Given the description of an element on the screen output the (x, y) to click on. 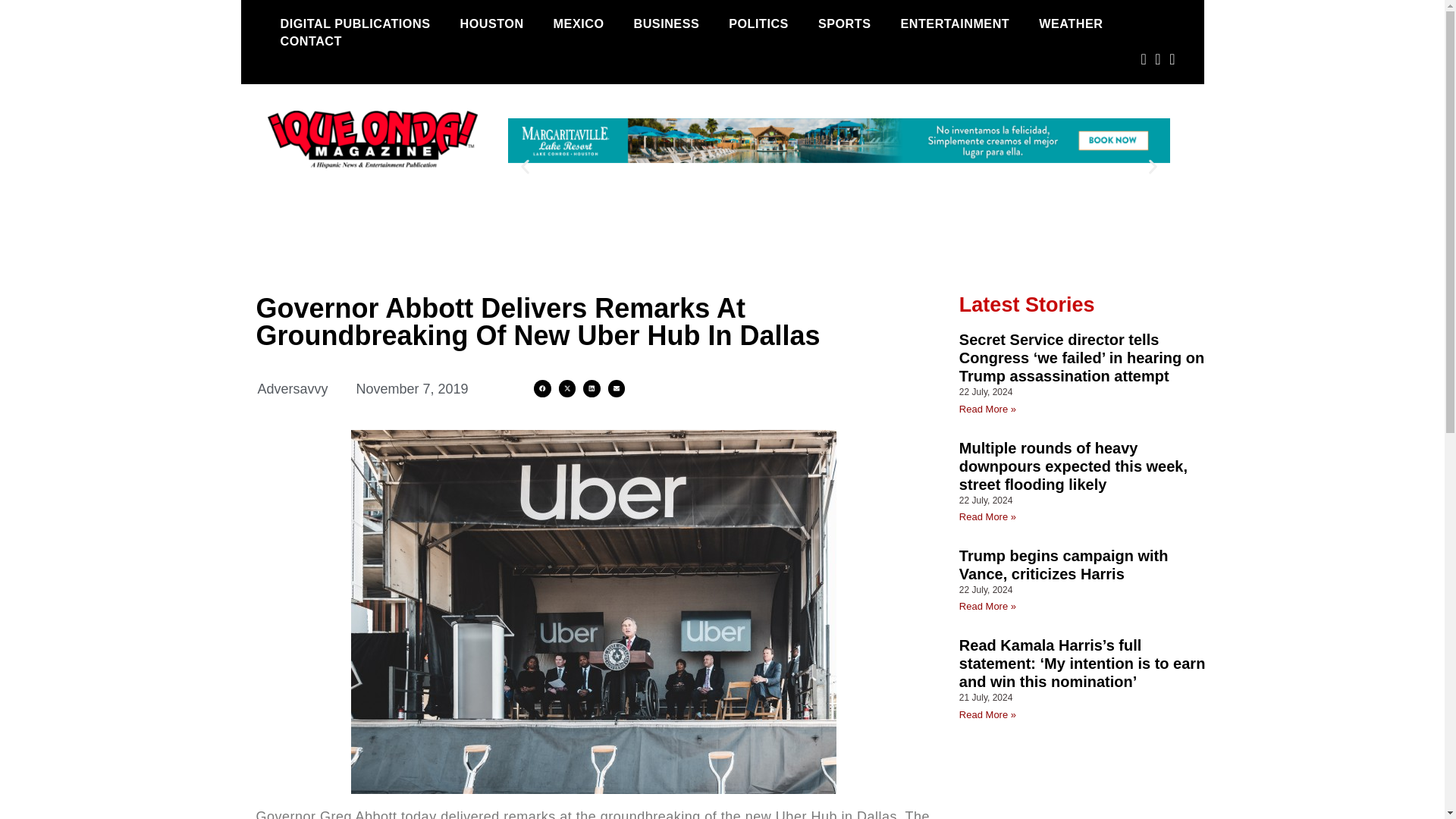
HOUSTON (491, 23)
Adversavvy (293, 389)
MEXICO (578, 23)
CONTACT (309, 40)
ENTERTAINMENT (954, 23)
WEATHER (1070, 23)
November 7, 2019 (412, 389)
Trump begins campaign with Vance, criticizes Harris (1064, 564)
BUSINESS (665, 23)
POLITICS (758, 23)
DIGITAL PUBLICATIONS (354, 23)
SPORTS (844, 23)
